Given the description of an element on the screen output the (x, y) to click on. 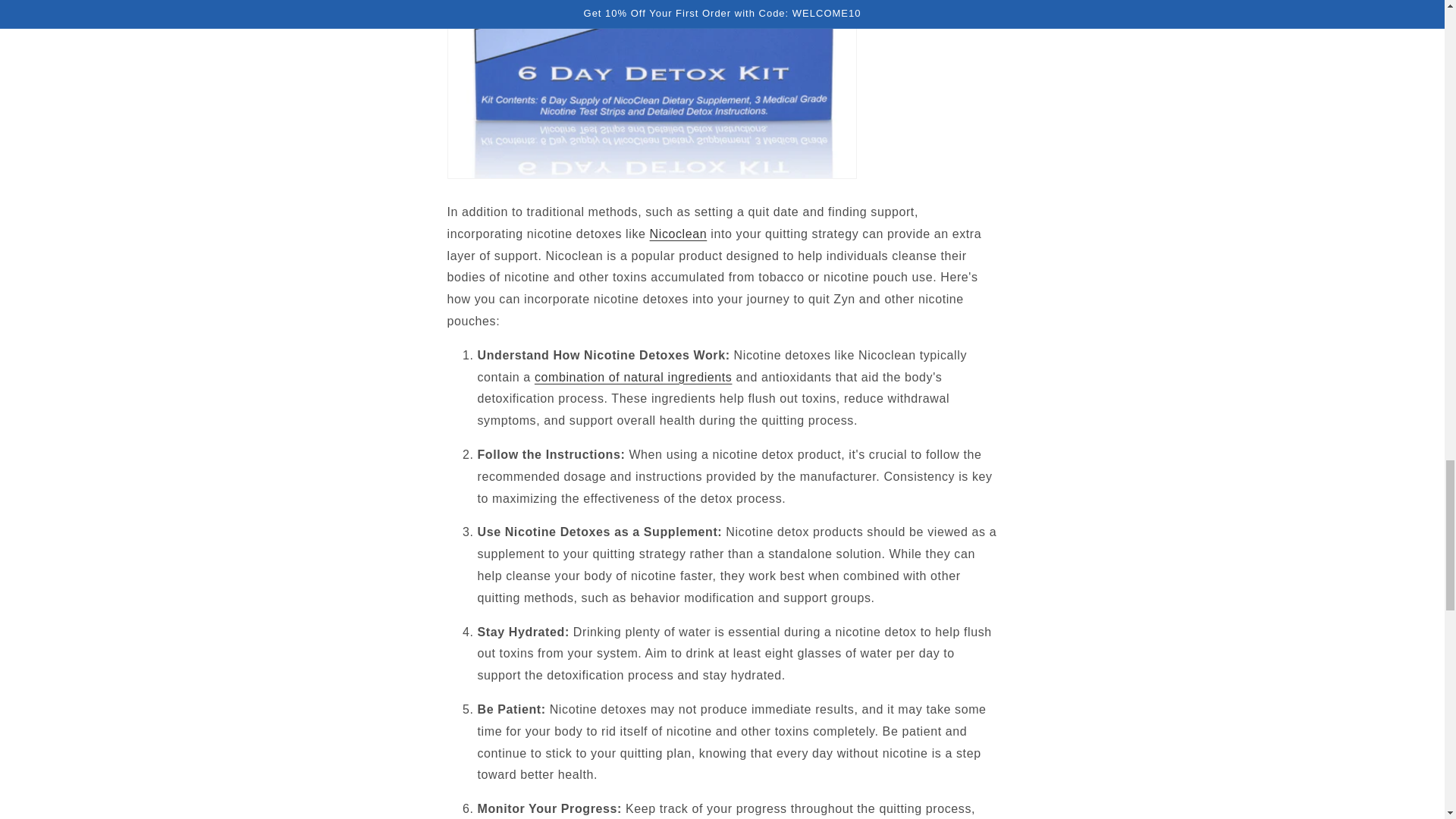
How it works nicoclean (633, 377)
Nicoclean Buy now (678, 233)
Nicoclean (678, 233)
combination of natural ingredients (633, 377)
